Given the description of an element on the screen output the (x, y) to click on. 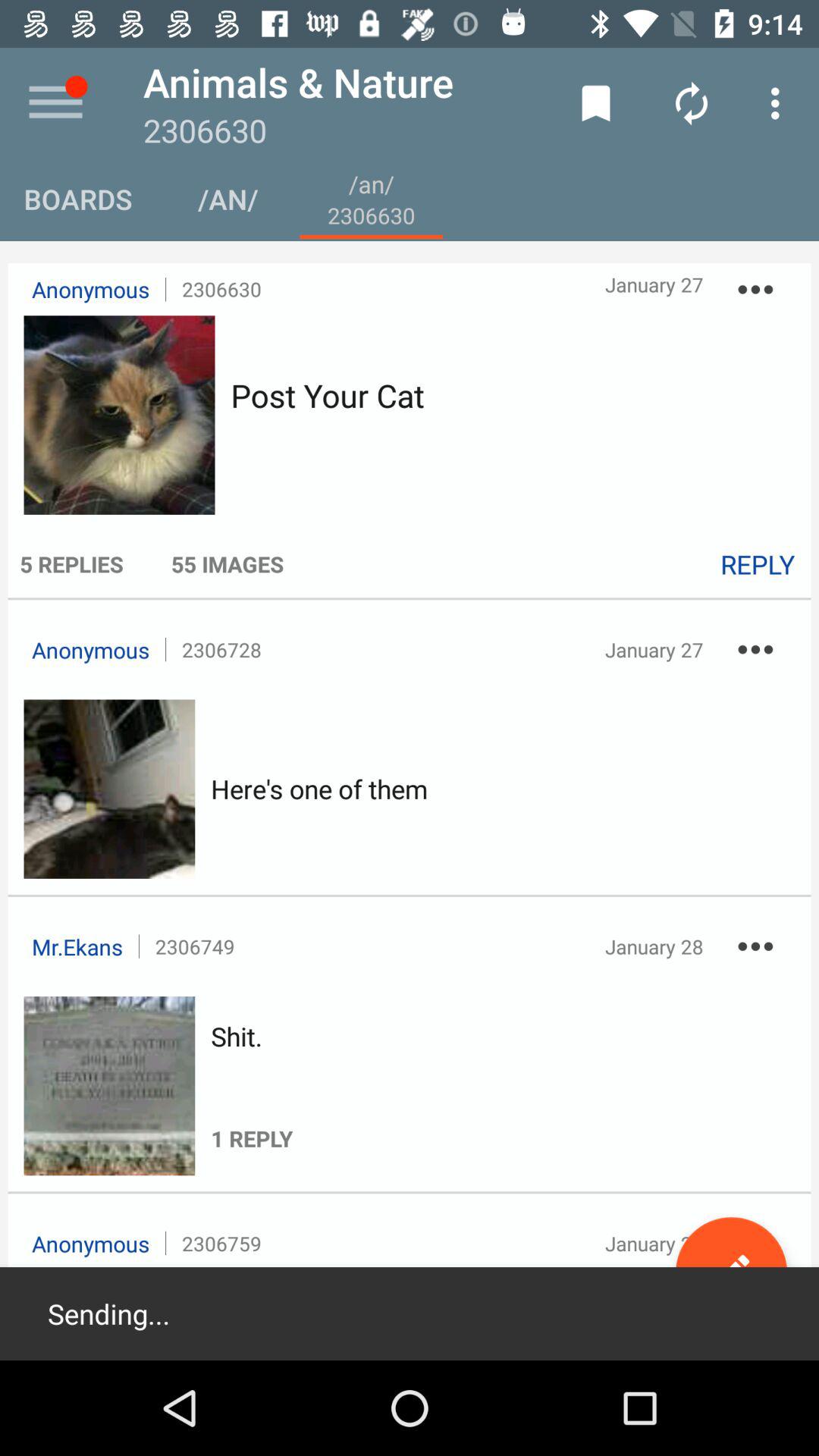
launch item next to the animals & nature item (595, 103)
